Given the description of an element on the screen output the (x, y) to click on. 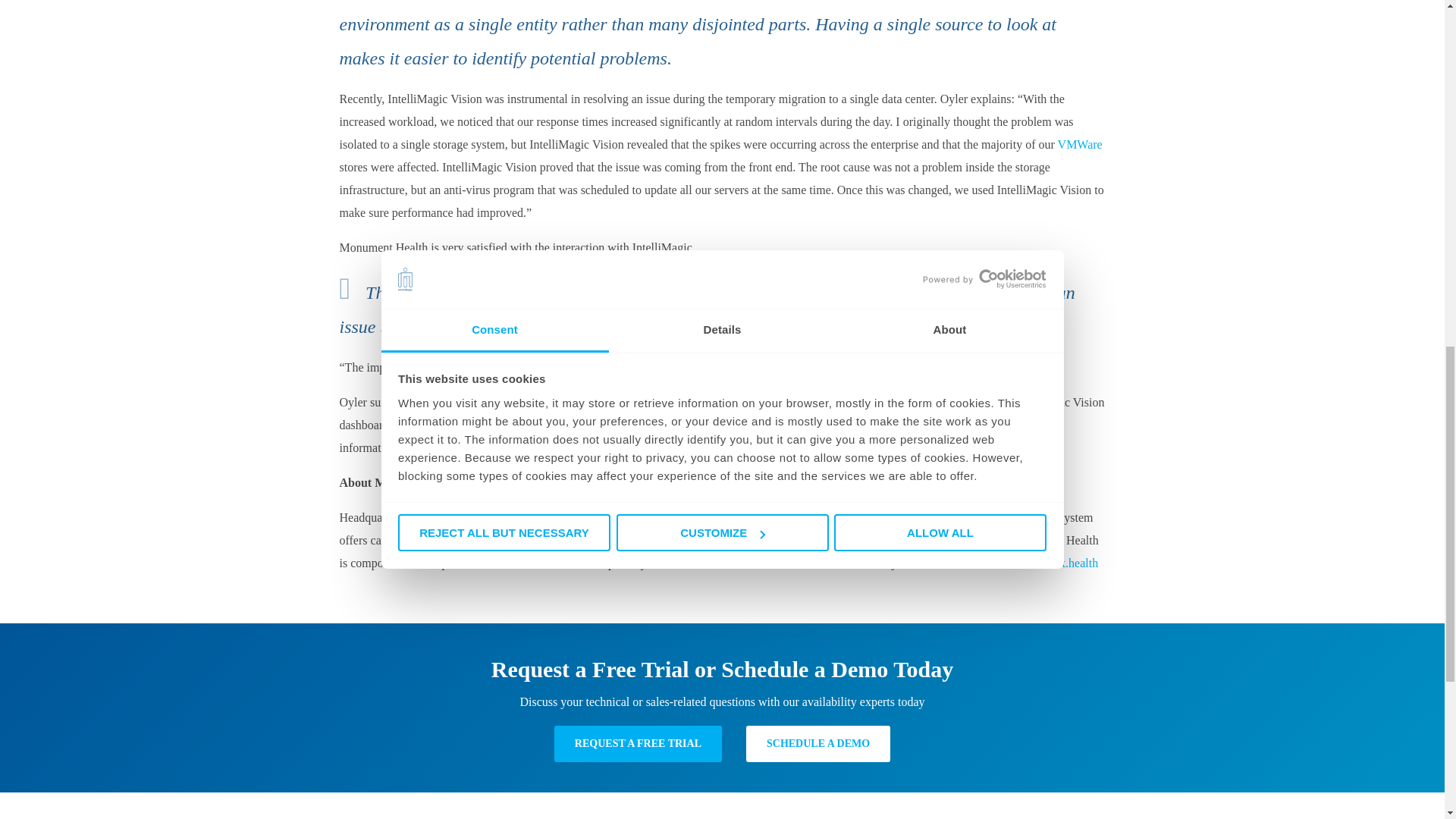
Request a Free Trial (638, 743)
Schedule a Demo (817, 743)
